Given the description of an element on the screen output the (x, y) to click on. 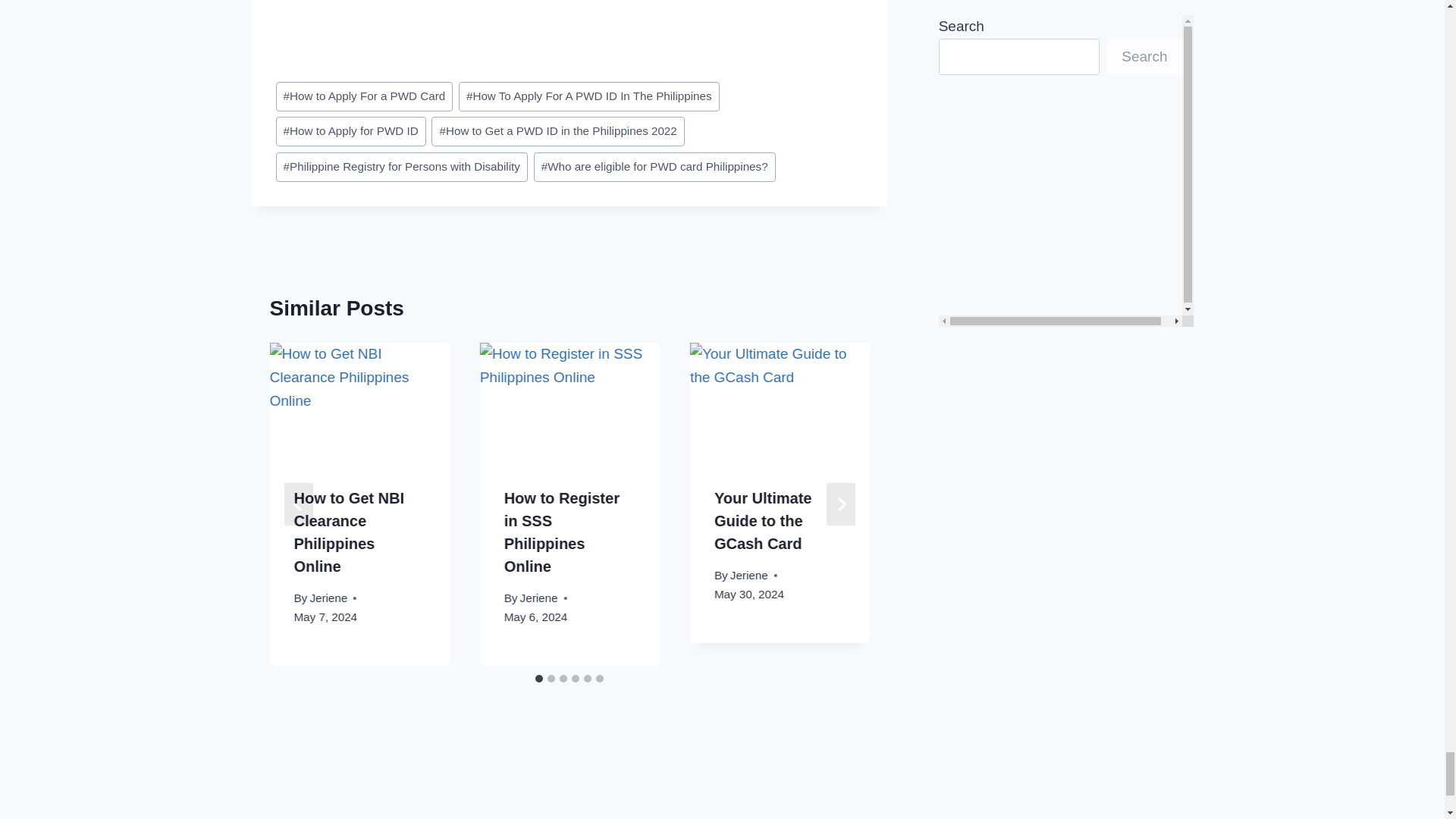
How to Get a PWD ID in the Philippines 2022 (557, 131)
How to Apply for PWD ID (351, 131)
Who are eligible for PWD card Philippines? (655, 166)
How to Apply For a PWD Card (364, 96)
How To Apply For A PWD ID In The Philippines (588, 96)
Philippine Registry for Persons with Disability (402, 166)
